Given the description of an element on the screen output the (x, y) to click on. 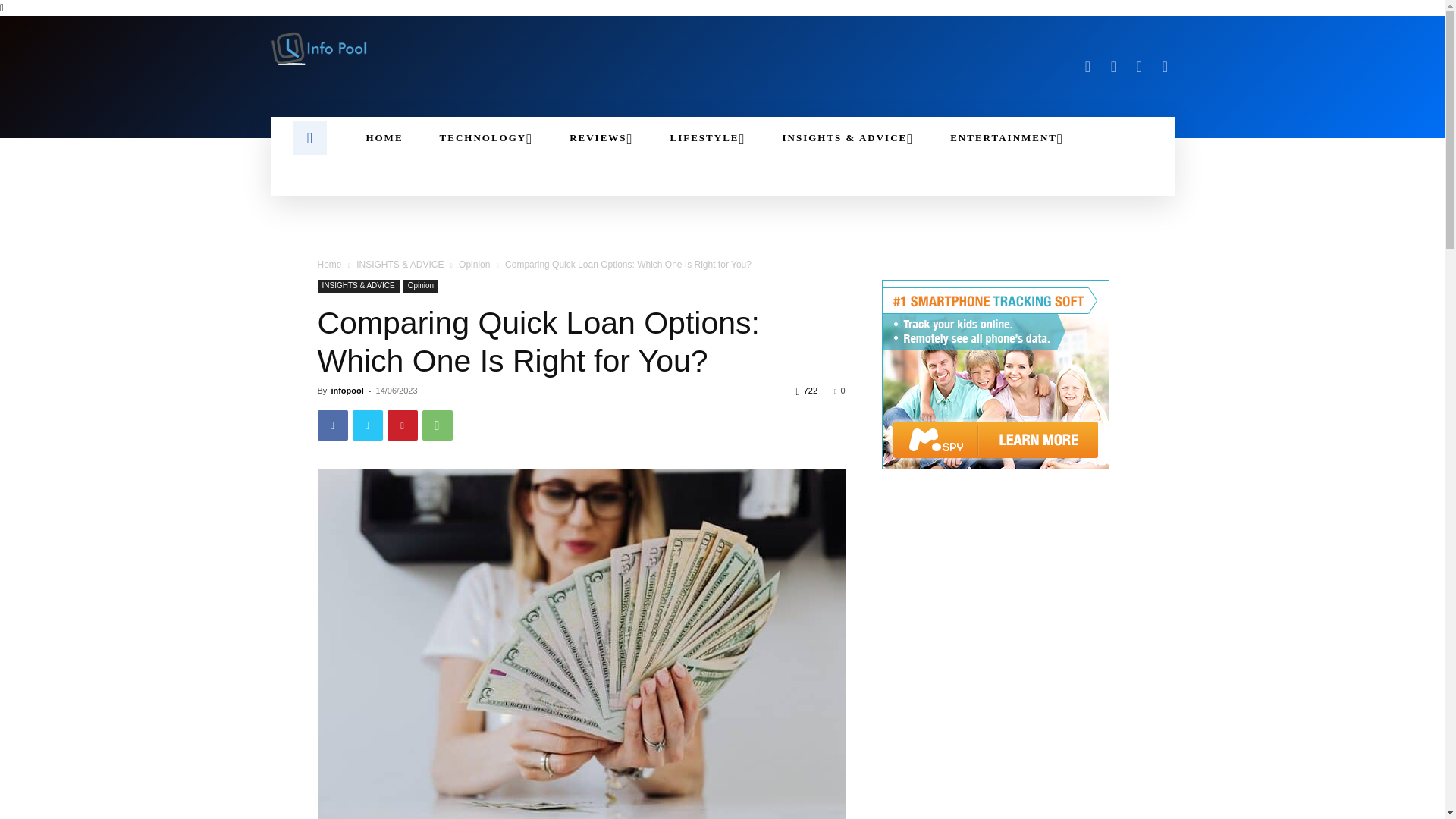
WhatsApp (436, 425)
Twitter (366, 425)
Facebook (1087, 66)
Twitter (1138, 66)
Mail (1112, 66)
Pinterest (401, 425)
Facebook (332, 425)
View all posts in Opinion (473, 264)
Youtube (1164, 66)
